Given the description of an element on the screen output the (x, y) to click on. 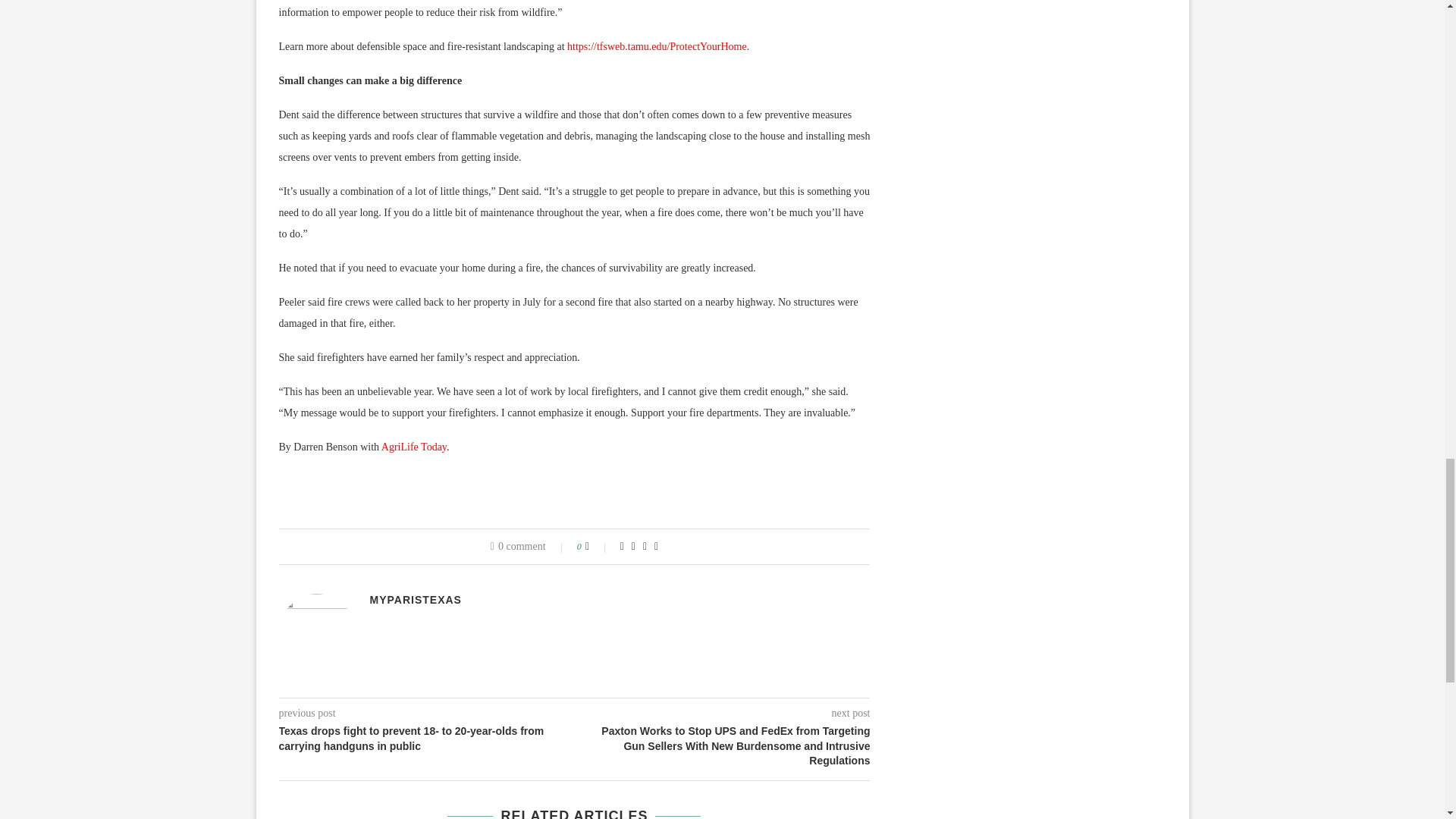
Like (597, 546)
Posts by MyParisTexas (415, 599)
